Given the description of an element on the screen output the (x, y) to click on. 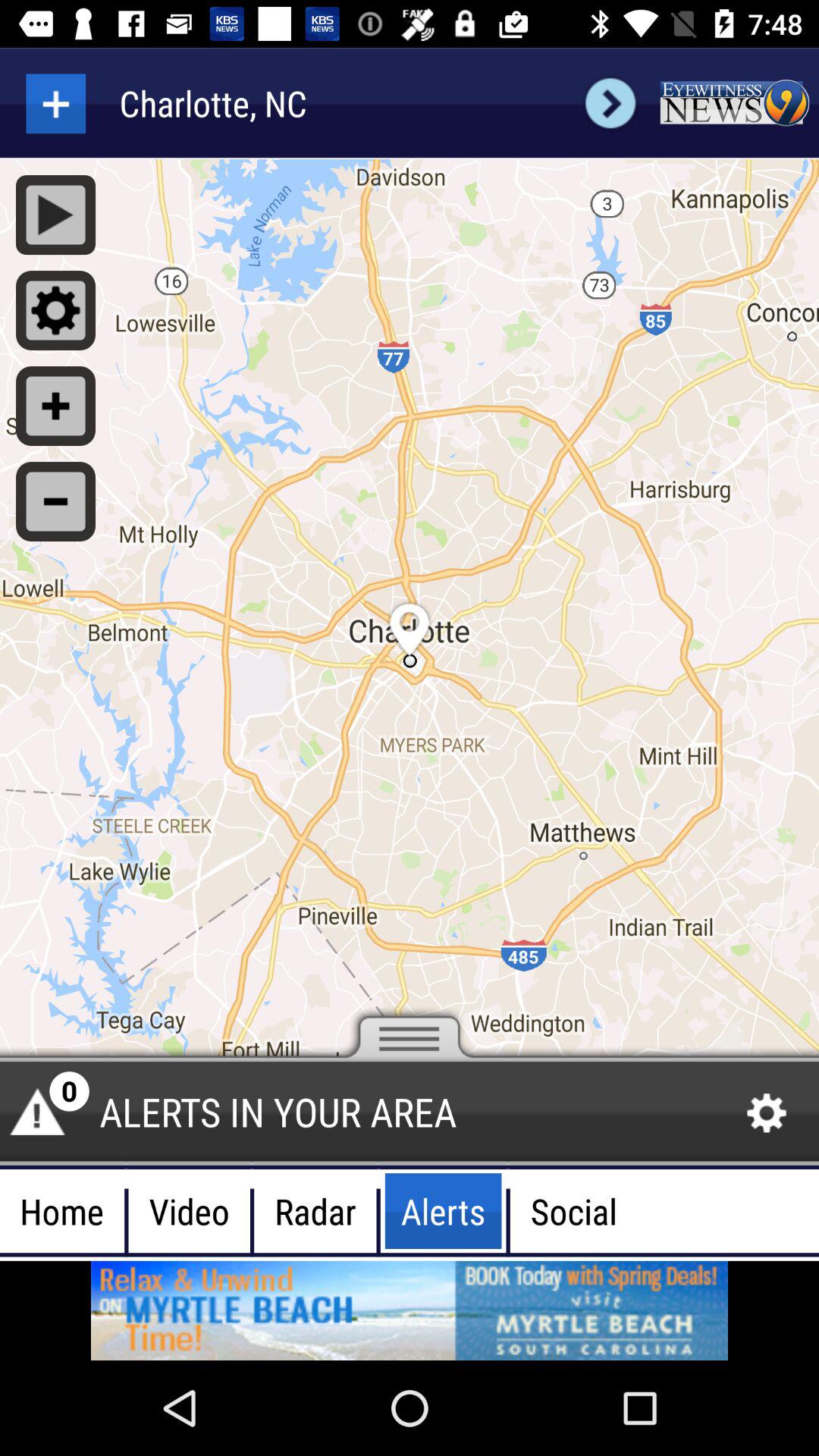
link to news (734, 103)
